Given the description of an element on the screen output the (x, y) to click on. 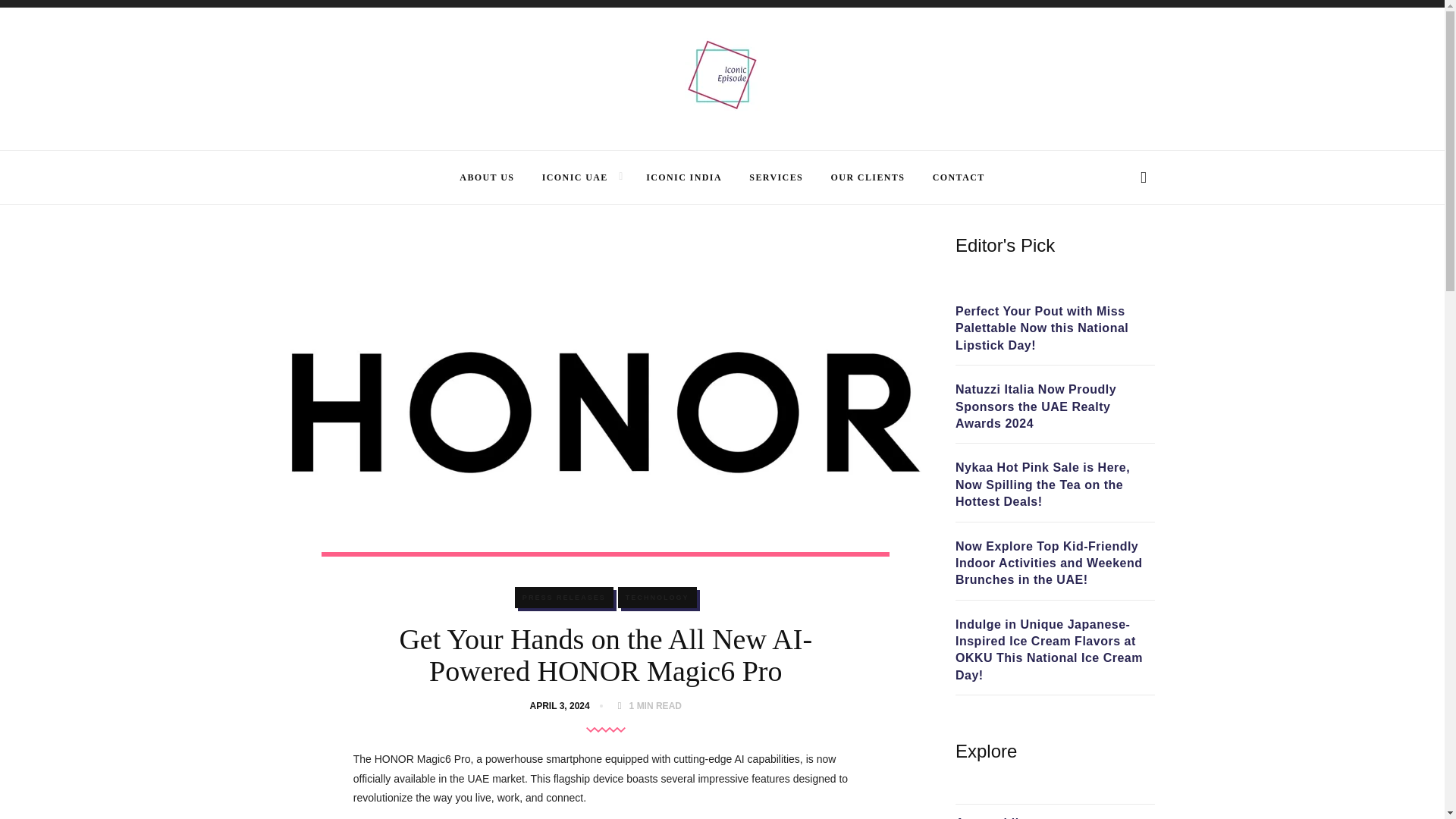
SERVICES (776, 176)
APRIL 3, 2024 (562, 706)
CONTACT (959, 176)
Automobile (990, 817)
TECHNOLOGY (657, 597)
PRESS RELEASES (563, 597)
ICONIC INDIA (684, 176)
OUR CLIENTS (868, 176)
ABOUT US (486, 176)
ICONIC UAE (574, 176)
